Given the description of an element on the screen output the (x, y) to click on. 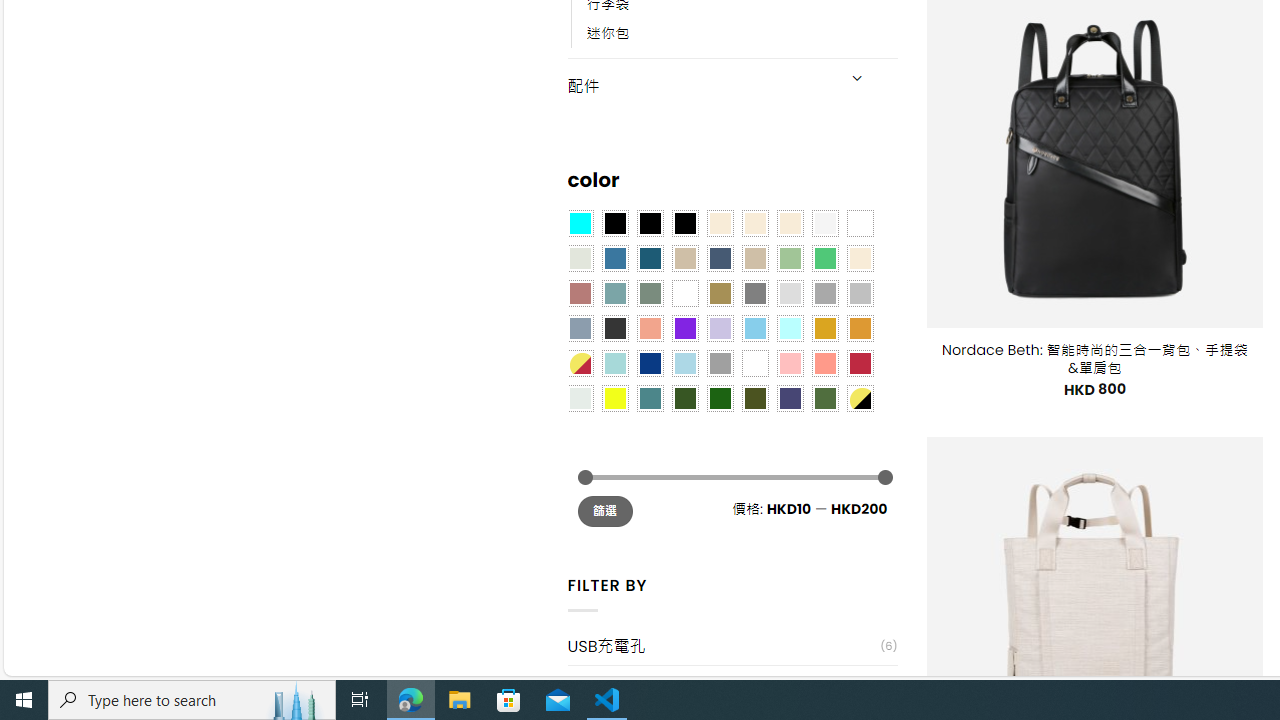
Dull Nickle (579, 398)
